Given the description of an element on the screen output the (x, y) to click on. 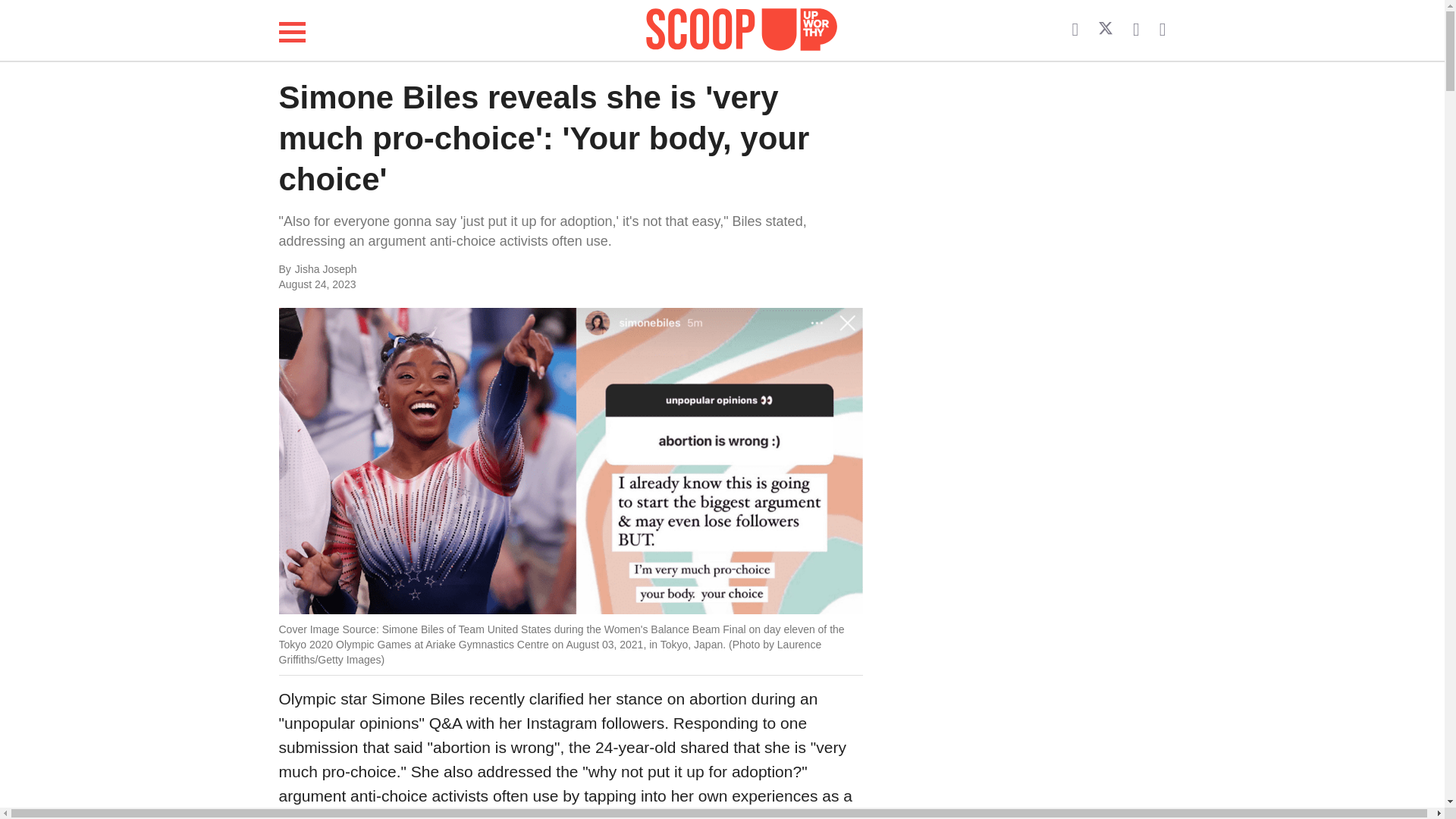
SCOOP UPWORTHY (741, 27)
SCOOP UPWORTHY (741, 29)
Jisha Joseph (445, 269)
